Given the description of an element on the screen output the (x, y) to click on. 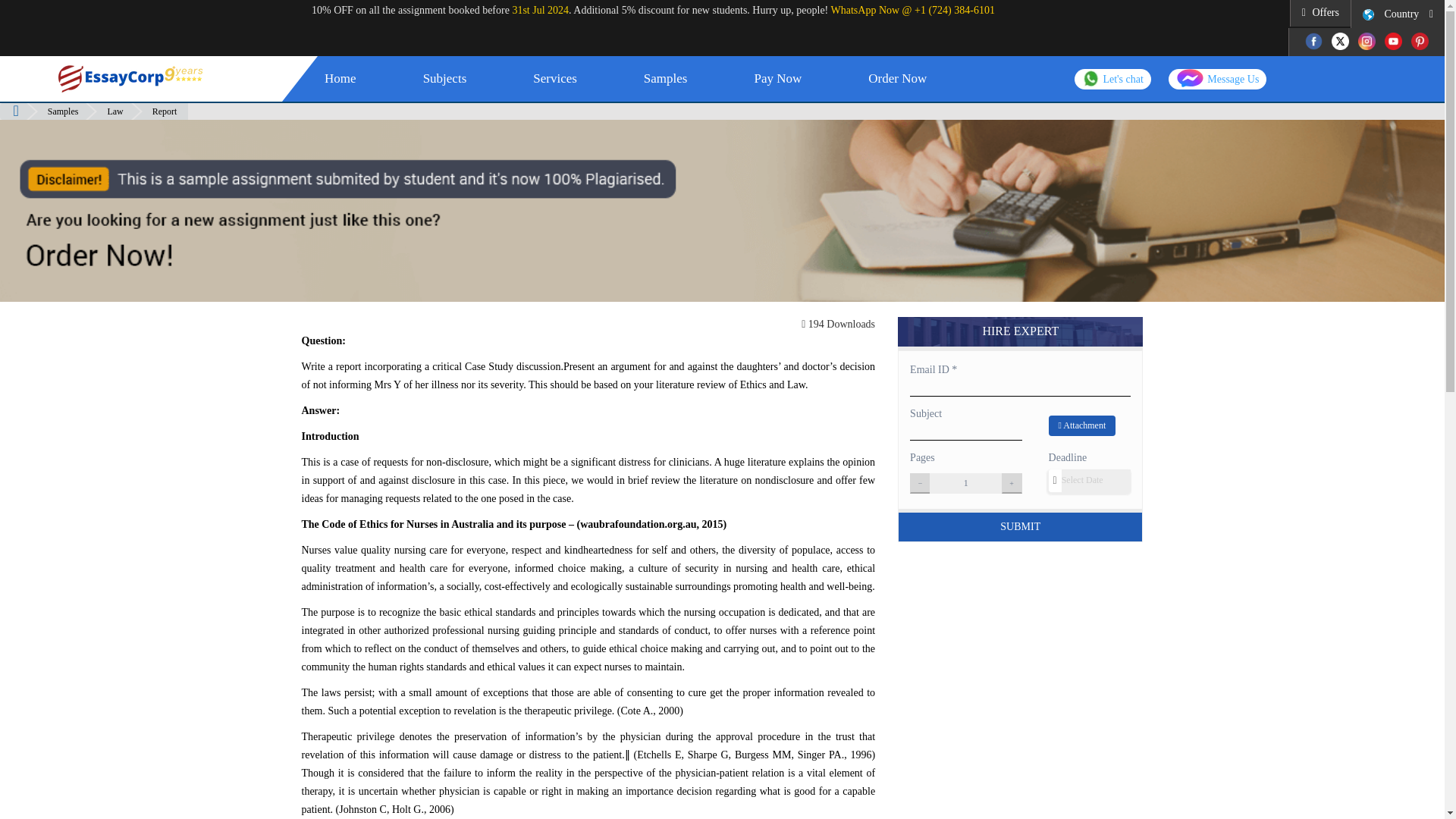
Country (1397, 14)
1 (965, 483)
Offers (1320, 12)
